Given the description of an element on the screen output the (x, y) to click on. 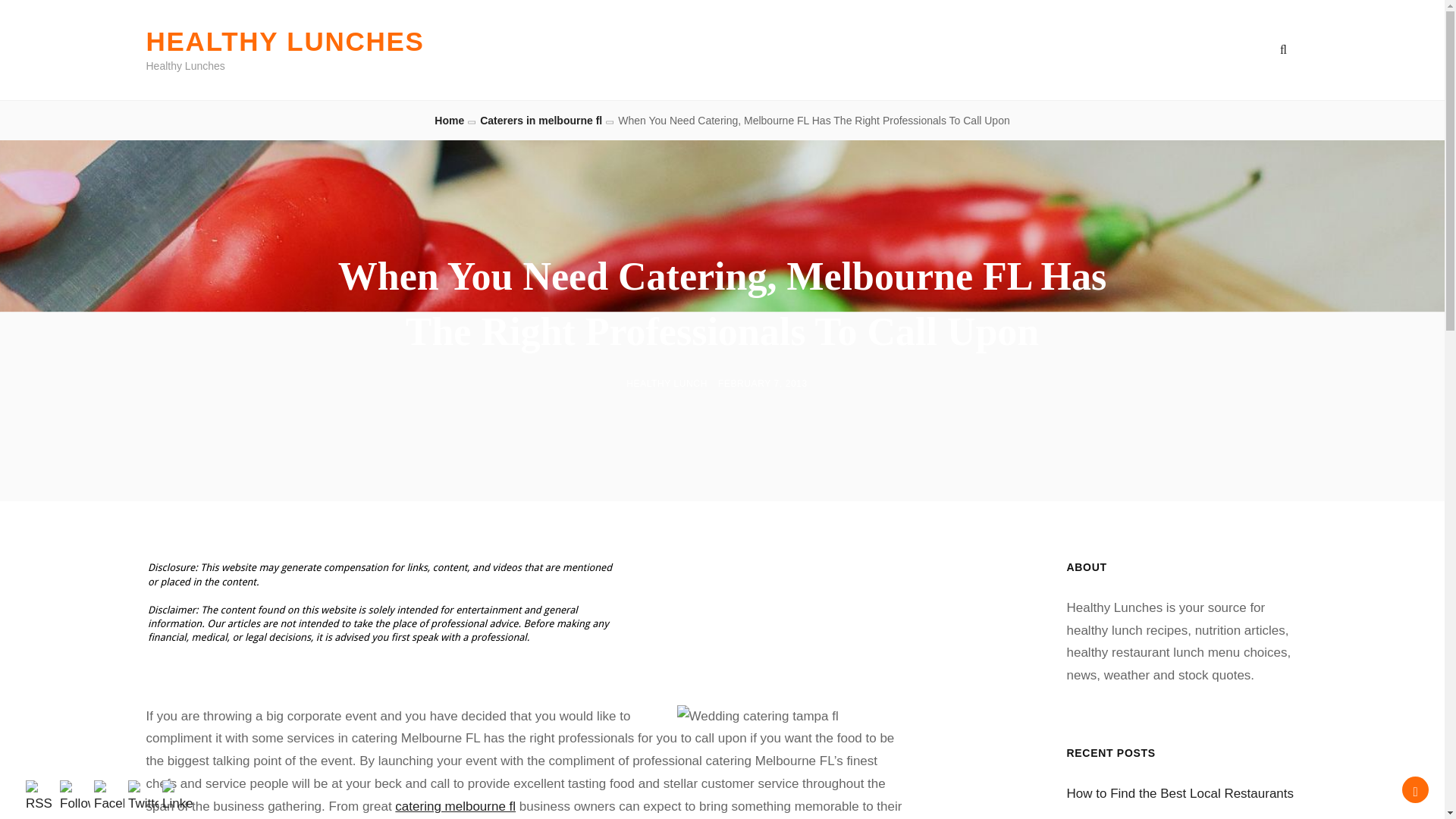
Home (448, 120)
Scroll Up (1415, 789)
HEALTHY LUNCHES (284, 41)
HEALTHY LUNCH (666, 383)
Caterers in melbourne fl (541, 120)
How to Find the Best Local Restaurants (1179, 793)
Check this out (454, 806)
Search (1283, 50)
FEBRUARY 7, 2013 (762, 383)
catering melbourne fl (454, 806)
